Given the description of an element on the screen output the (x, y) to click on. 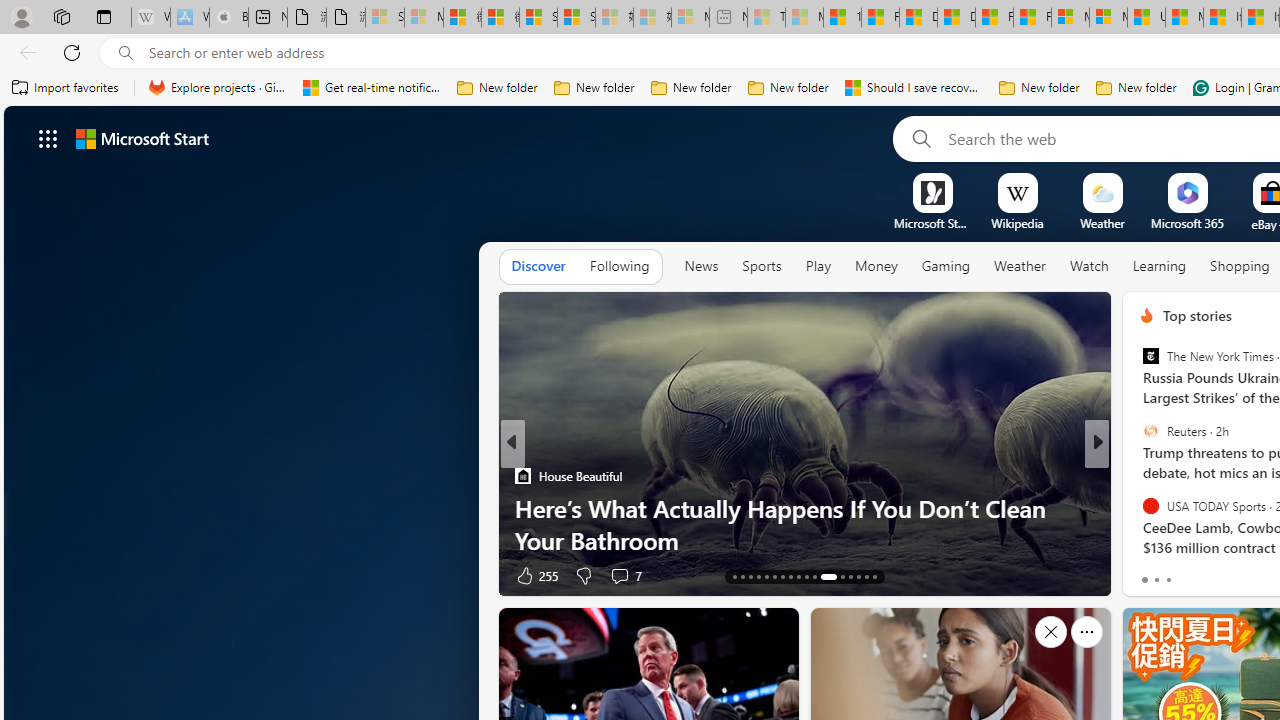
The New York Times (1149, 356)
AutomationID: tab-22 (806, 576)
App launcher (47, 138)
House Beautiful (522, 475)
IT Concept (1158, 507)
View comments 7 Comment (1234, 574)
Buy iPad - Apple - Sleeping (228, 17)
